Given the description of an element on the screen output the (x, y) to click on. 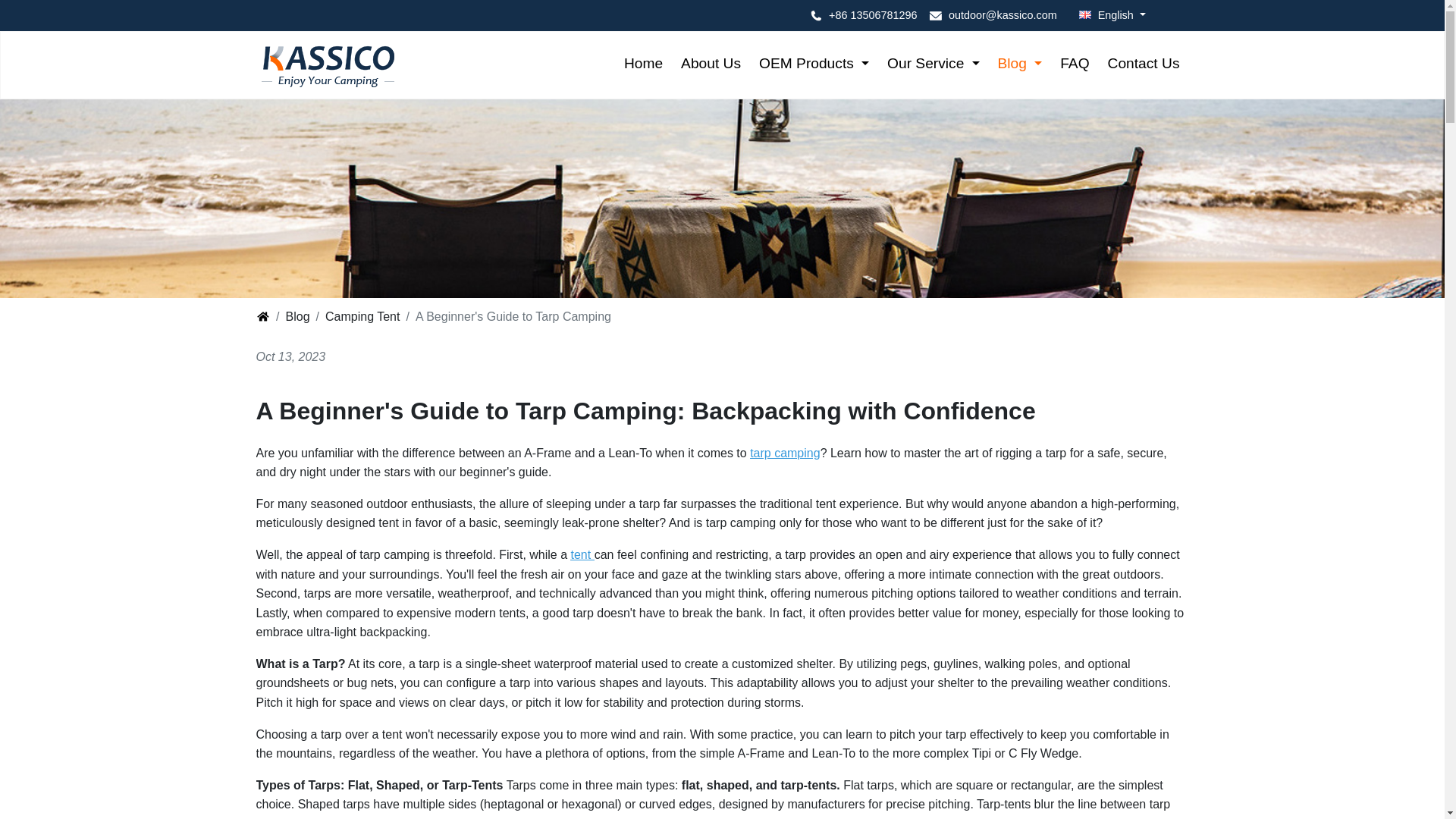
OEM Products (813, 63)
English (1107, 15)
Home (642, 63)
About Us (710, 63)
